Given the description of an element on the screen output the (x, y) to click on. 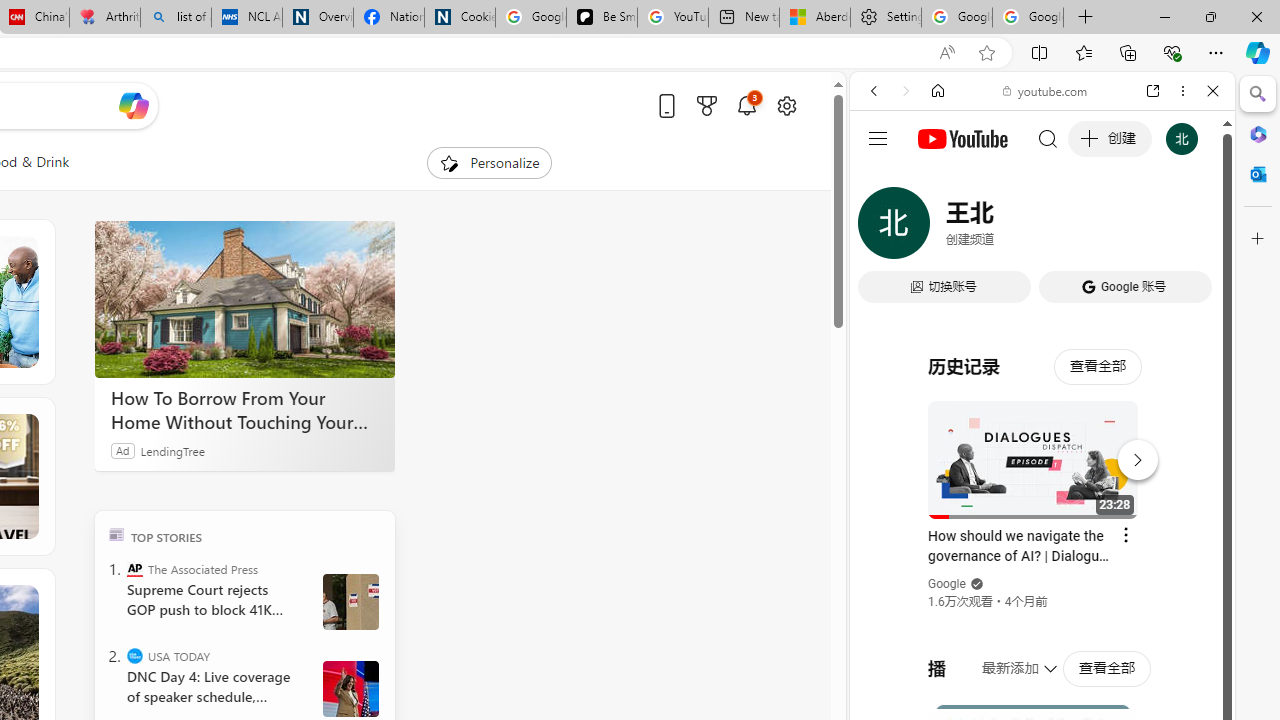
Microsoft rewards (707, 105)
WEB   (882, 228)
Google (1042, 494)
Close Customize pane (1258, 239)
How To Borrow From Your Home Without Touching Your Mortgage (244, 299)
Be Smart | creating Science videos | Patreon (602, 17)
TOP (116, 534)
The Associated Press (134, 568)
